Given the description of an element on the screen output the (x, y) to click on. 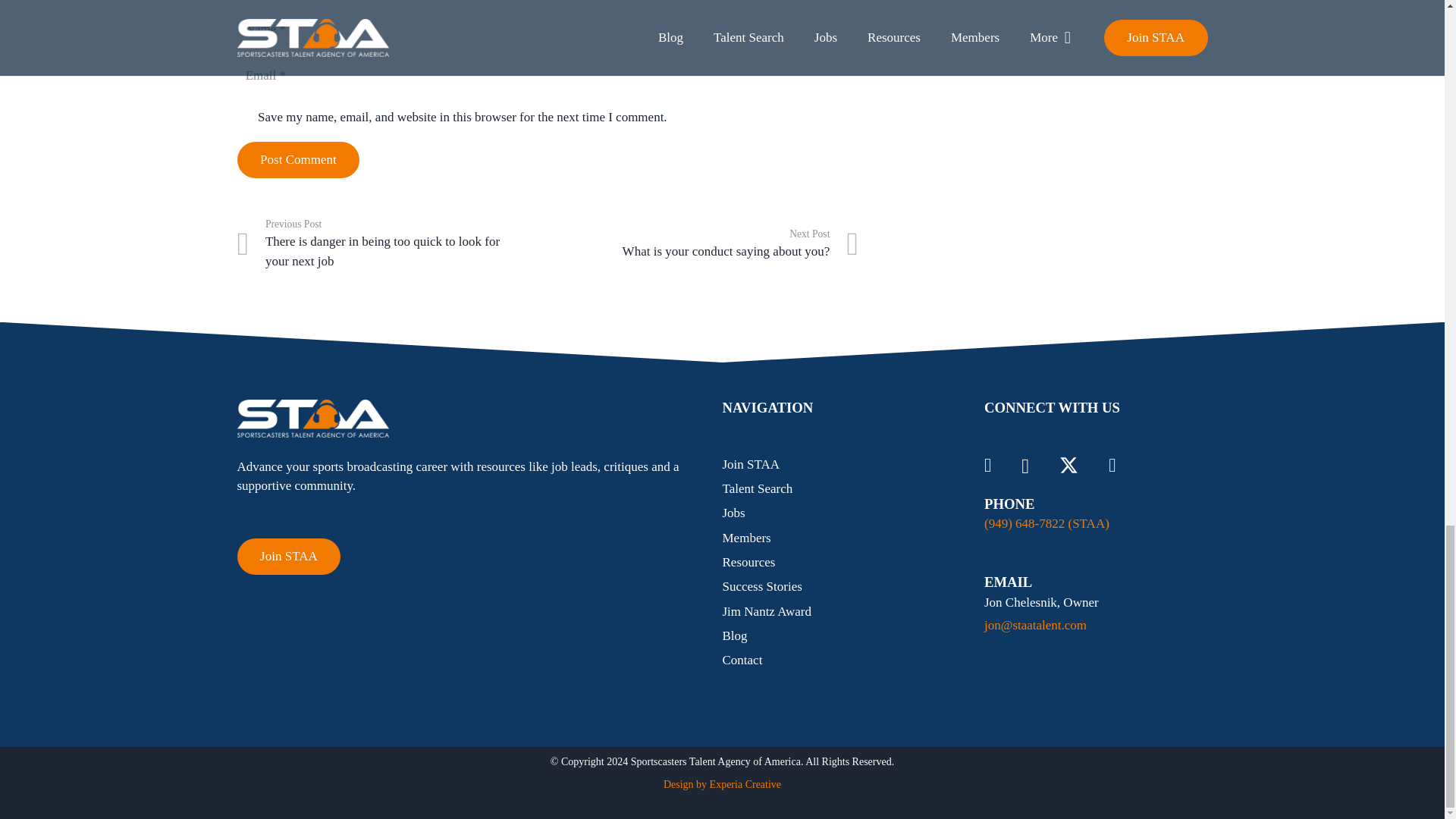
There is danger in being too quick to look for your next job (391, 244)
1 (703, 244)
Post Comment (243, 118)
